Given the description of an element on the screen output the (x, y) to click on. 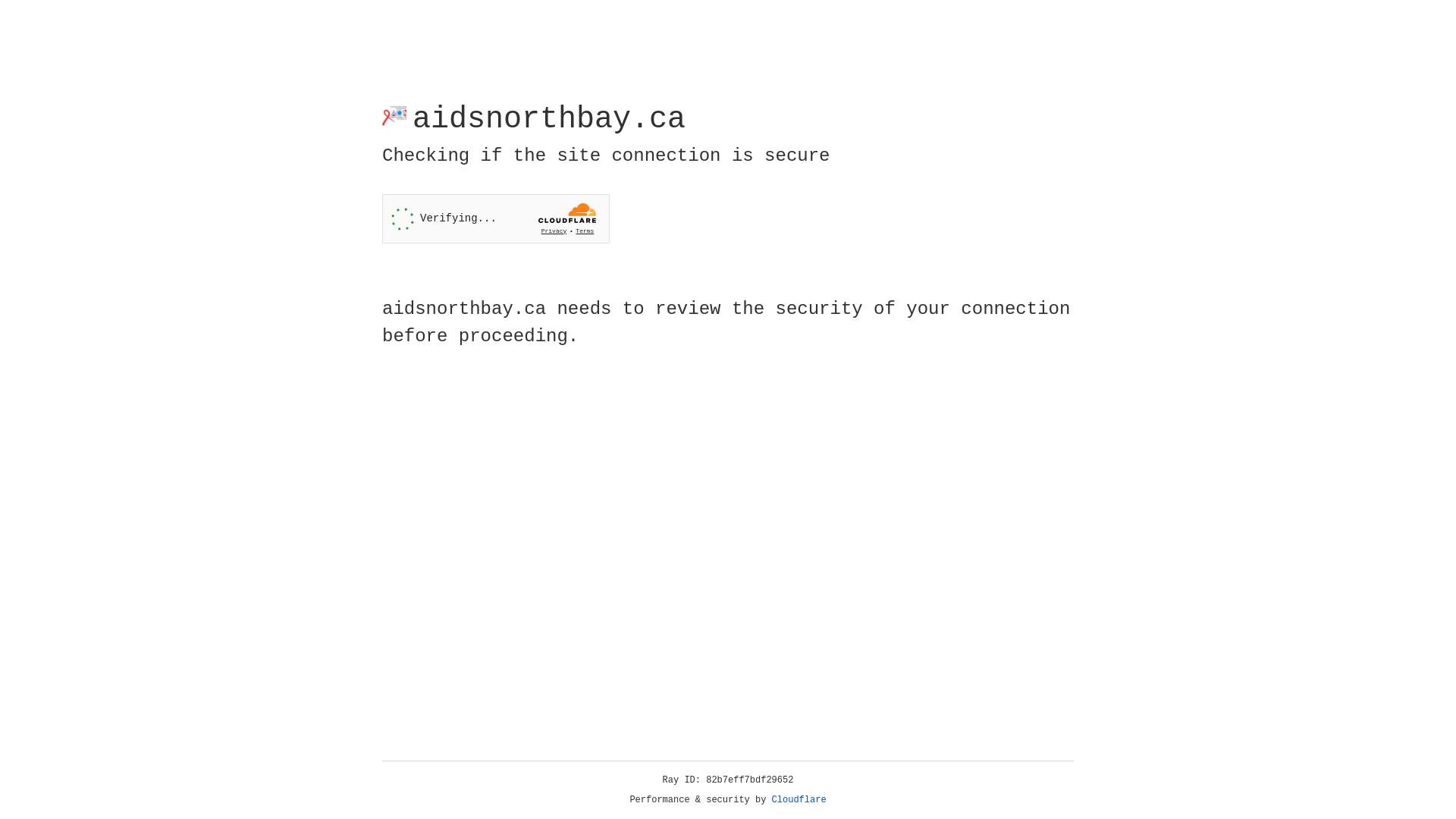
Cloudflare Element type: text (798, 799)
Widget containing a Cloudflare security challenge Element type: hover (495, 218)
